Given the description of an element on the screen output the (x, y) to click on. 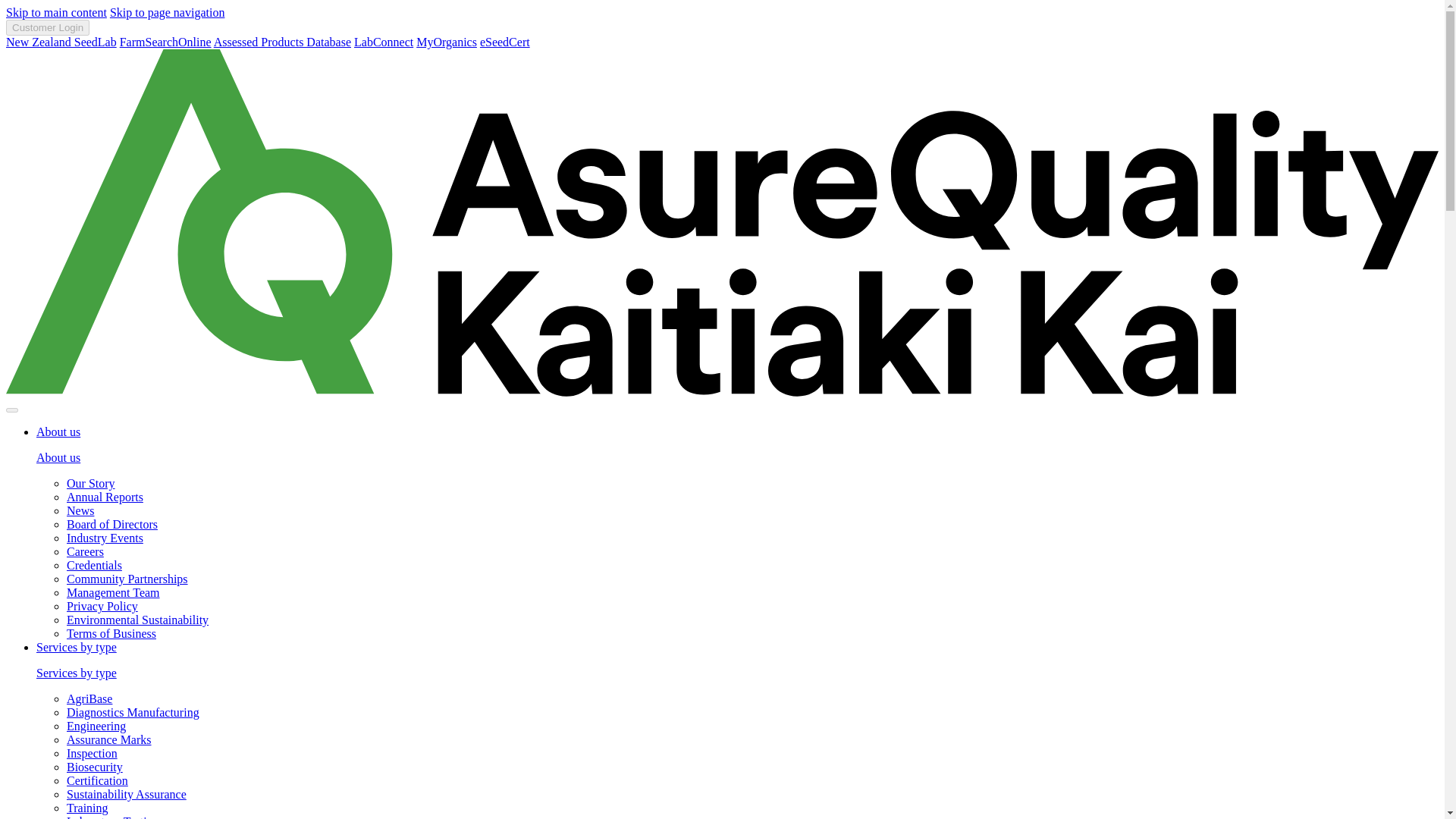
Training (86, 807)
Login to FarmSearchOnline (165, 42)
Inspection (91, 753)
Services by type (76, 672)
Assurance Marks (108, 739)
MyOrganics (446, 42)
Open mobile menu (11, 409)
Services by type (76, 646)
Management Team (113, 592)
FarmSearchOnline (165, 42)
Login to eSeedCert (504, 42)
Skip to page navigation (167, 11)
Privacy Policy (102, 605)
About us (58, 431)
Careers (84, 551)
